Given the description of an element on the screen output the (x, y) to click on. 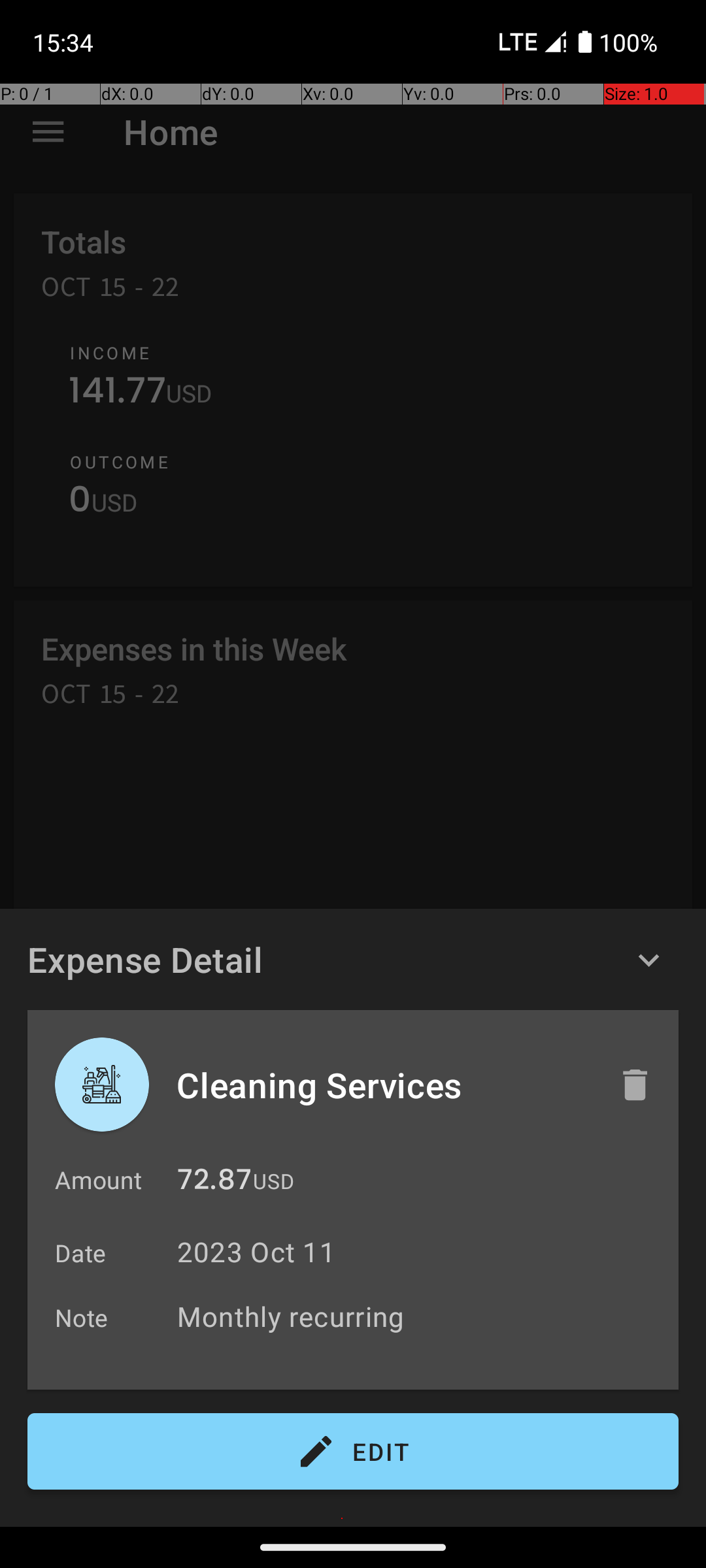
Cleaning Services Element type: android.widget.TextView (383, 1084)
72.87 Element type: android.widget.TextView (214, 1182)
